Given the description of an element on the screen output the (x, y) to click on. 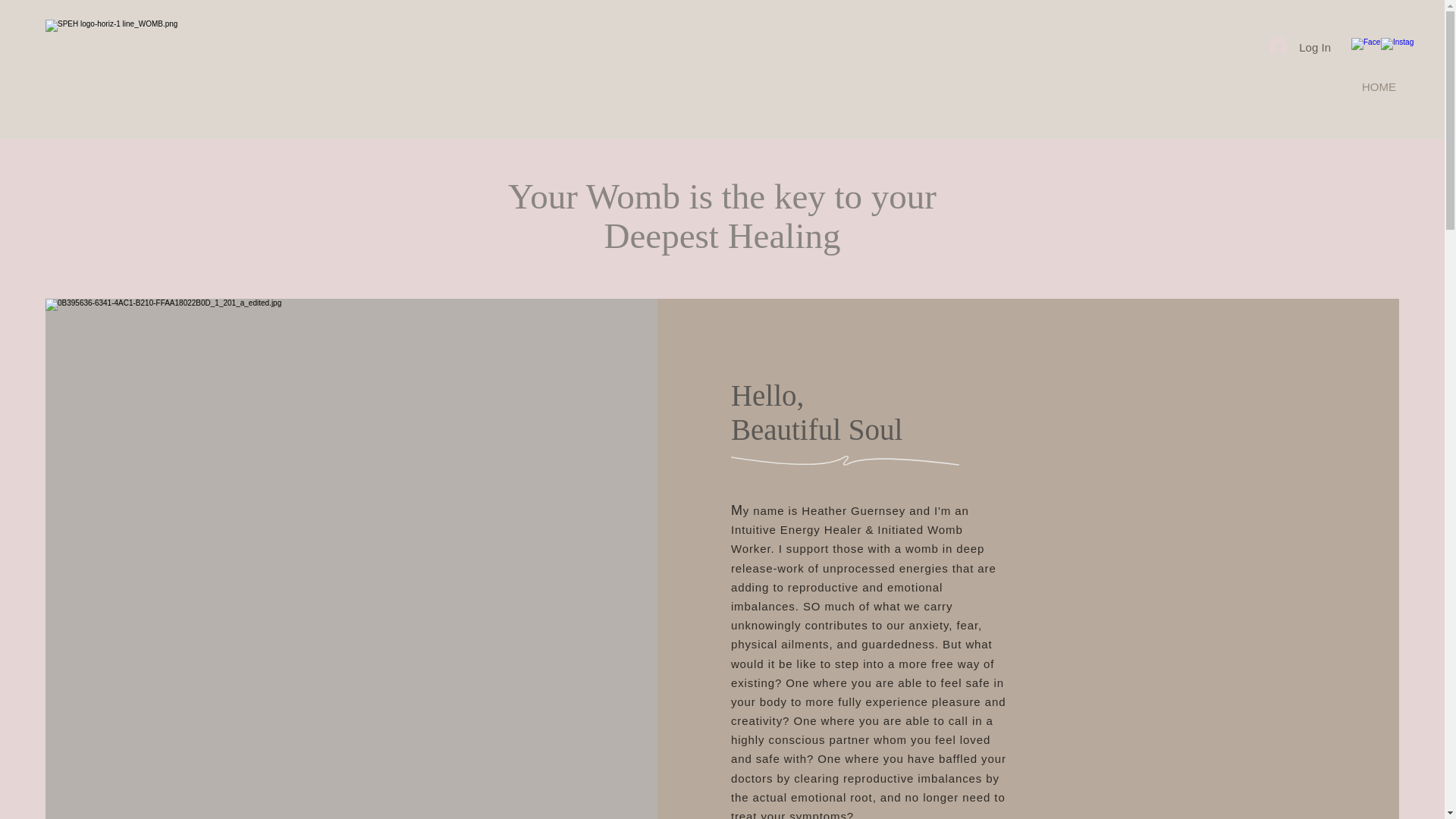
SPEH logo-horiz-1 line-300.png (171, 57)
HOME (1379, 86)
Log In (1298, 46)
